Given the description of an element on the screen output the (x, y) to click on. 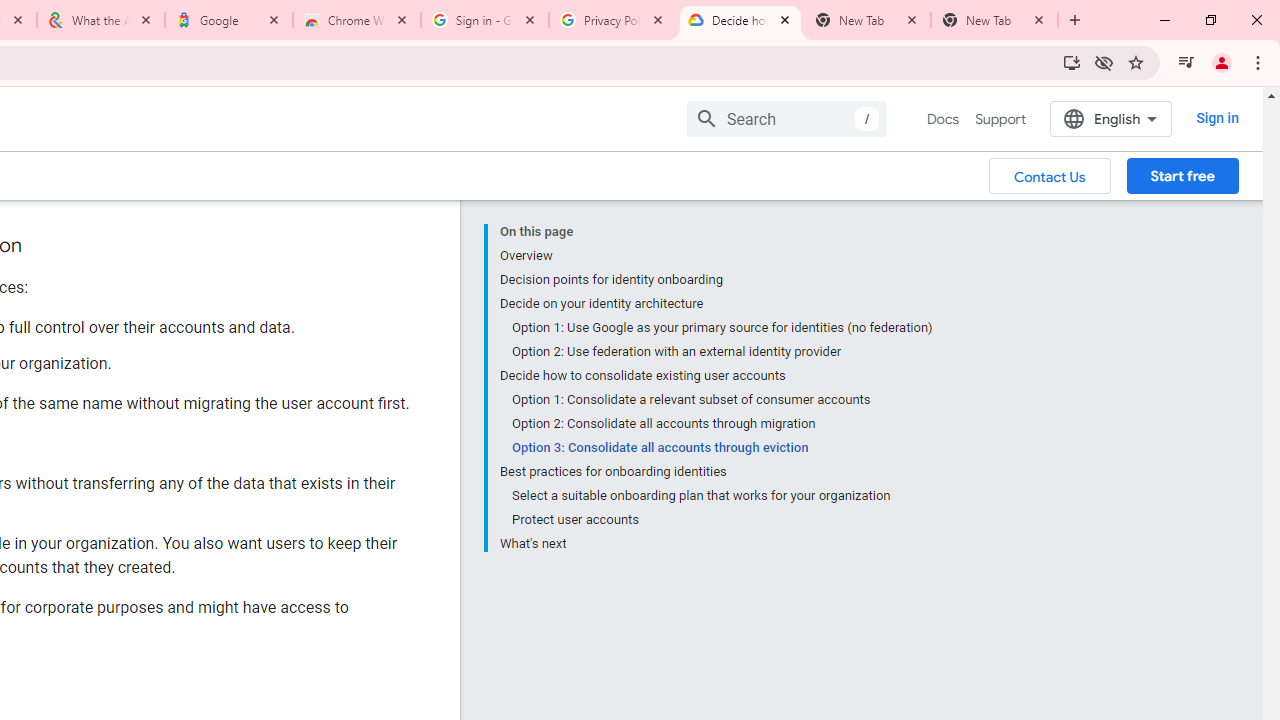
Support (1000, 119)
Option 2: Use federation with an external identity provider (721, 351)
Contact Us (1050, 175)
Google (229, 20)
Decide how to consolidate existing user accounts (716, 376)
Start free (1182, 175)
Option 2: Consolidate all accounts through migration (721, 423)
